Given the description of an element on the screen output the (x, y) to click on. 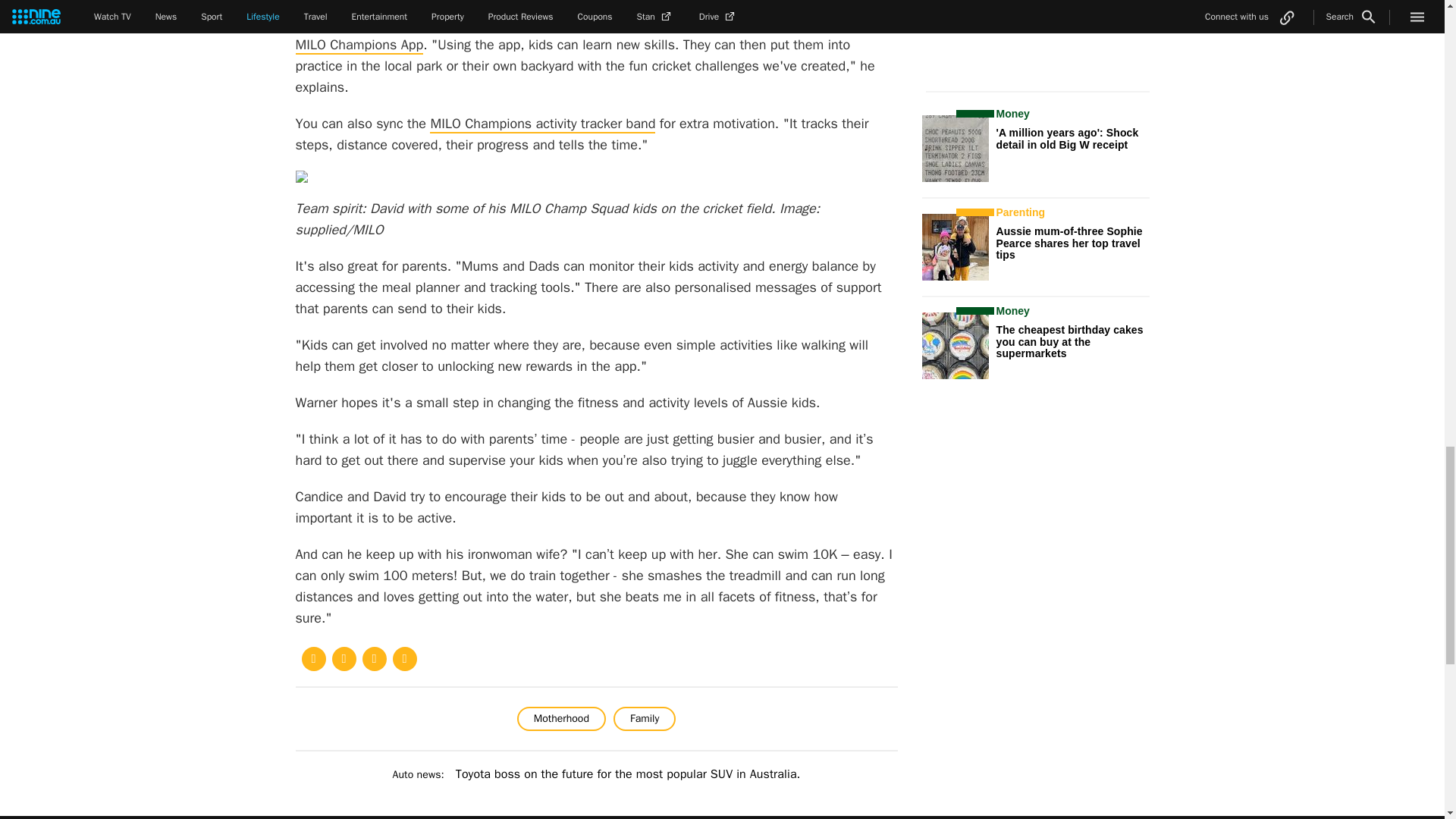
MILO Champions activity tracker band (542, 124)
Motherhood (560, 718)
Family (643, 718)
Milo Champ Squad (376, 24)
MILO Champions App (359, 45)
